Given the description of an element on the screen output the (x, y) to click on. 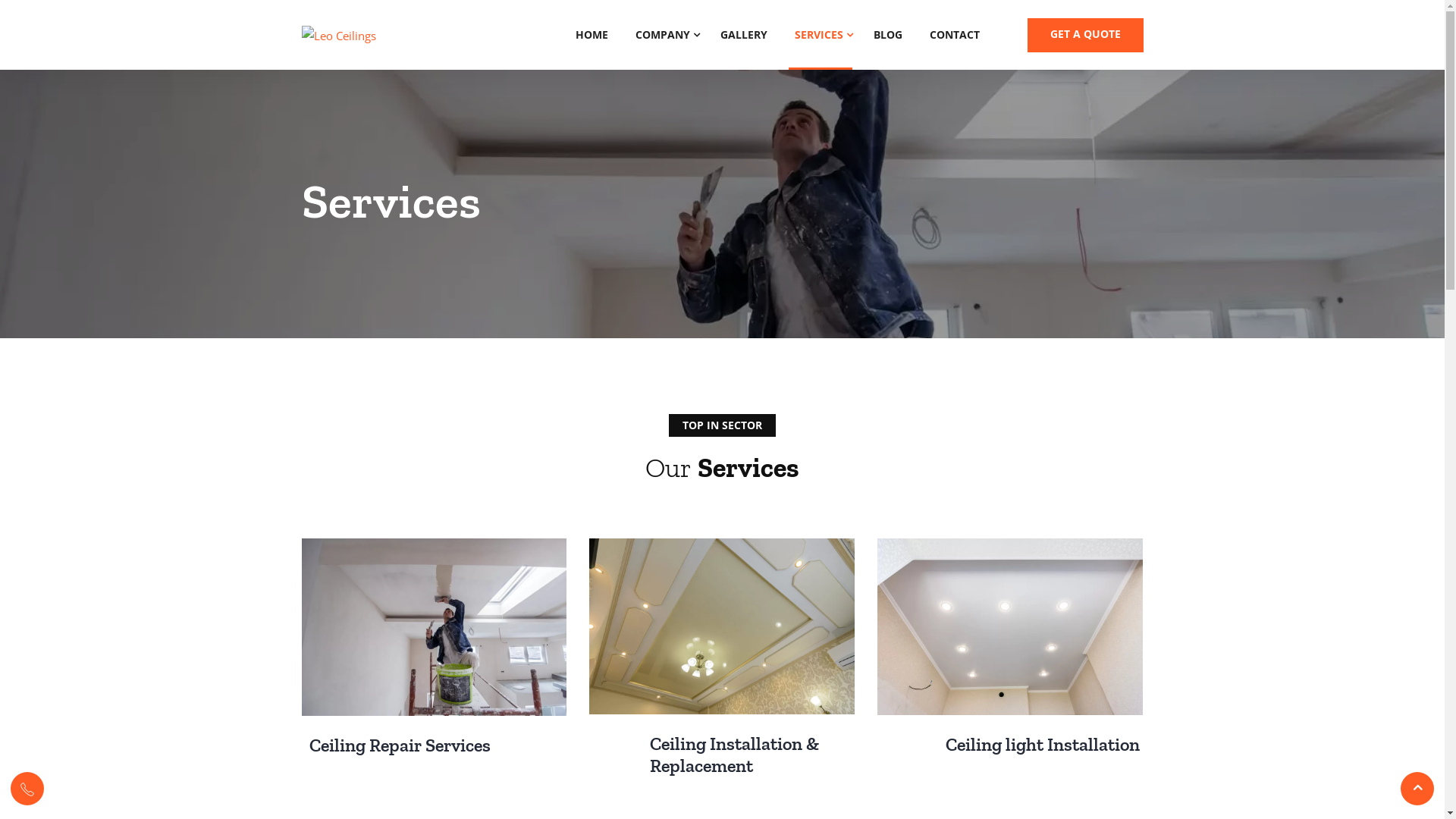
COMPANY Element type: text (664, 34)
GET A QUOTE Element type: text (1084, 35)
BLOG Element type: text (887, 34)
Ceiling Installation & Replacement Element type: text (734, 754)
SERVICES Element type: text (820, 34)
HOME Element type: text (591, 34)
Ceiling light Installation Element type: text (1042, 744)
GALLERY Element type: text (743, 34)
CONTACT Element type: text (954, 34)
Ceiling Repair Services Element type: text (399, 745)
